Given the description of an element on the screen output the (x, y) to click on. 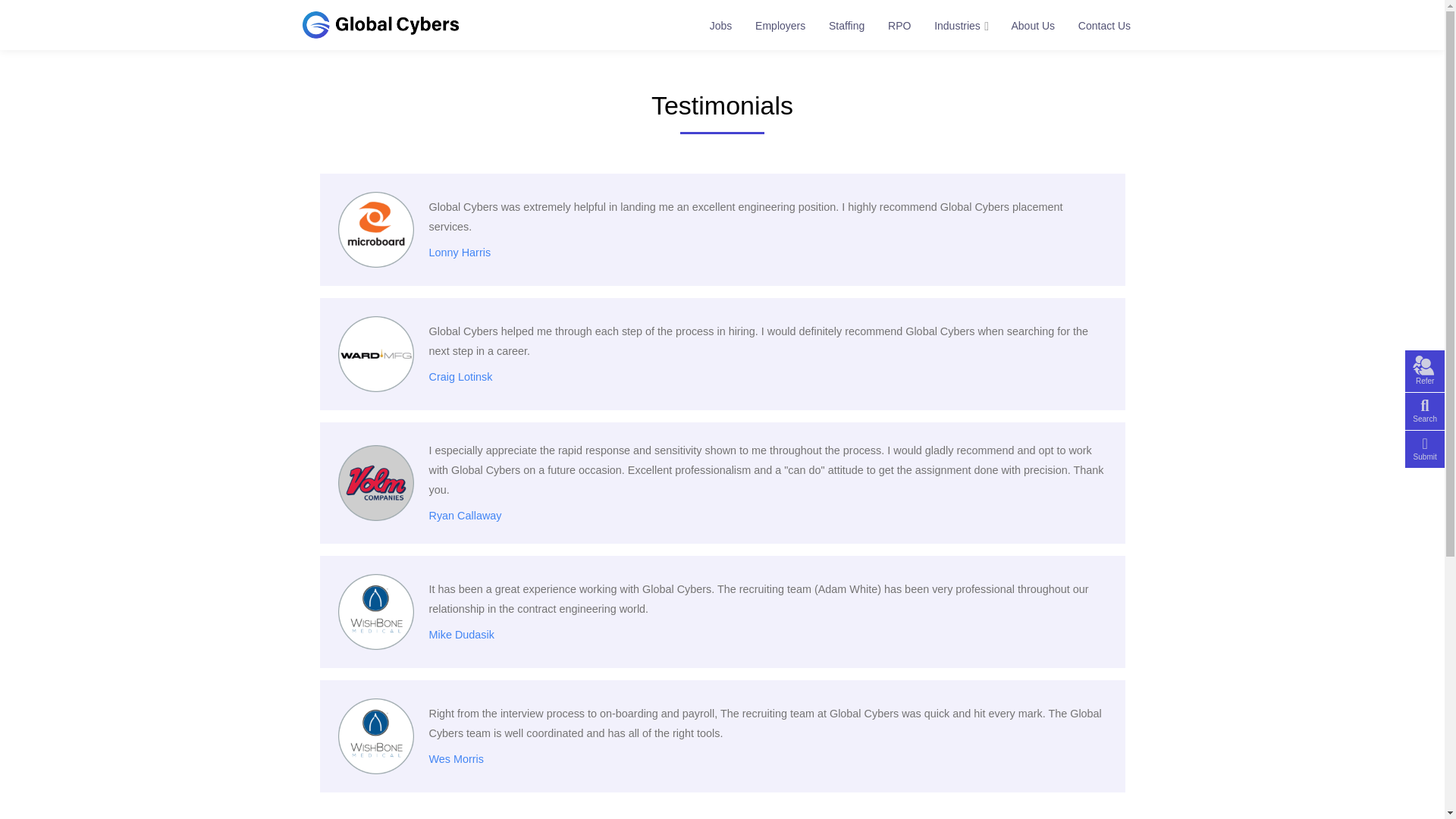
RPO (899, 25)
Staffing (847, 25)
Employers (780, 25)
About Us (1032, 25)
Contact Us (1104, 25)
Jobs (720, 25)
Industries (957, 25)
